Given the description of an element on the screen output the (x, y) to click on. 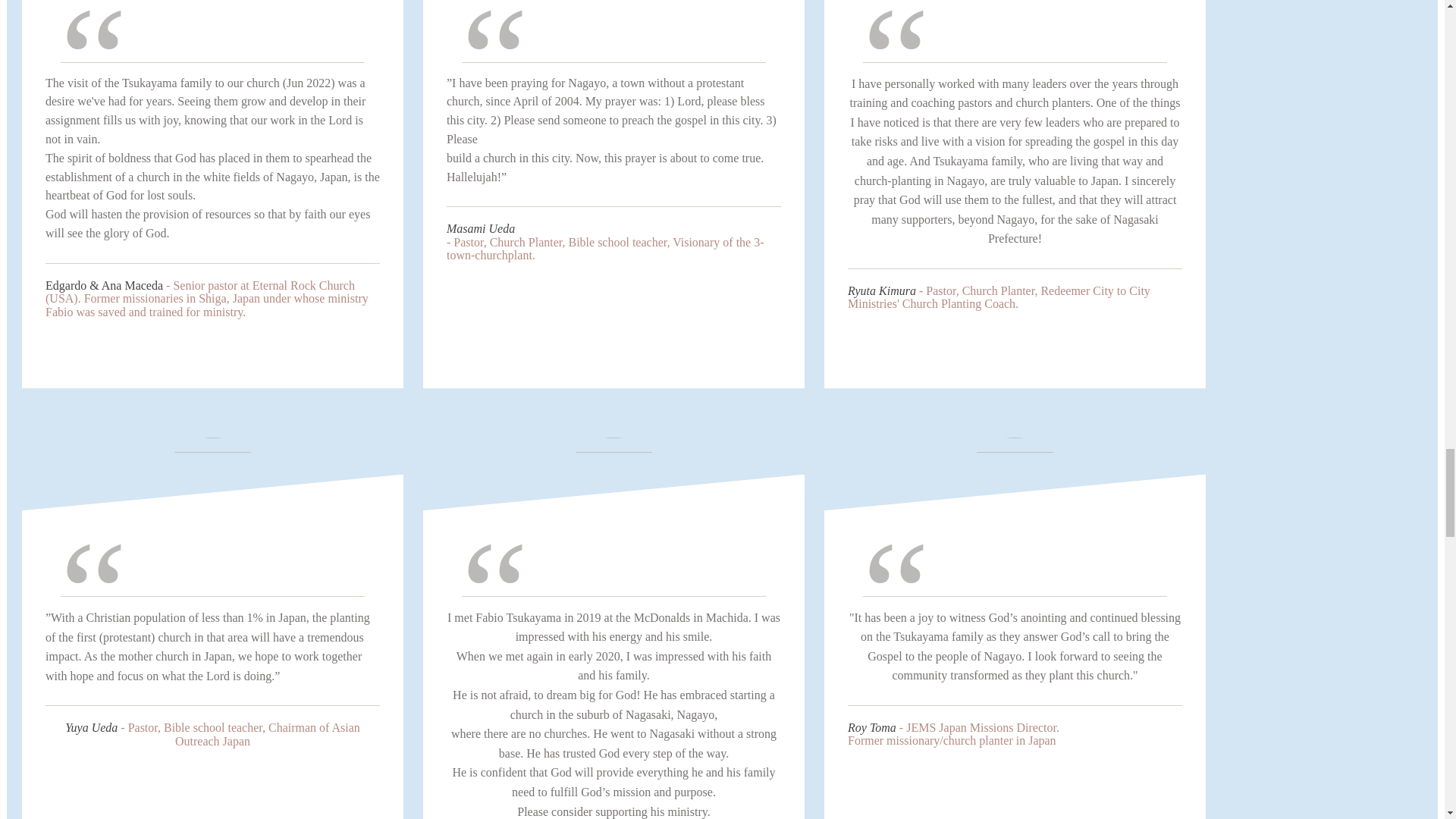
Screen Shot 2022-07-12 at 10.39.20 (212, 8)
Screen Shot 2022-06-08 at 18.55.34 (613, 493)
Masami Nagasaki 2022 (613, 8)
Screen Shot 2022-06-01 at 15.08.57 (1014, 8)
RoyT copy (1014, 493)
